Given the description of an element on the screen output the (x, y) to click on. 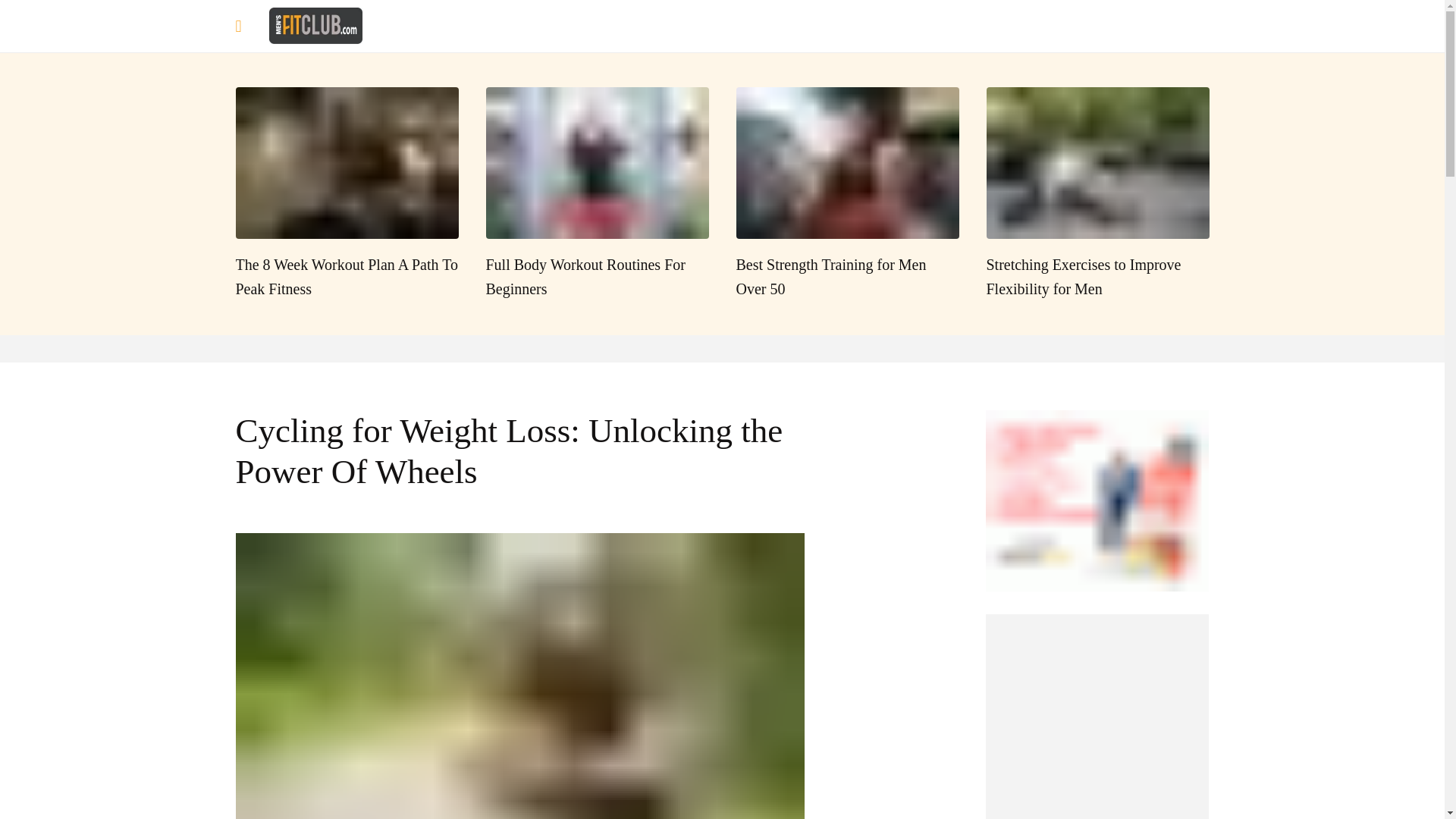
read more The 8 Week Workout Plan A Path To Peak Fitness (346, 193)
Full Body Workout Routines For Beginners (595, 193)
The 8 Week Workout Plan A Path To Peak Fitness (346, 193)
read more Full Body Workout Routines For Beginners (595, 193)
read more Best Strength Training for Men Over 50 (846, 193)
Best Strength Training for Men Over 50 (846, 193)
Men's Fit Club (315, 23)
Stretching Exercises to Improve Flexibility for Men (1096, 193)
